Given the description of an element on the screen output the (x, y) to click on. 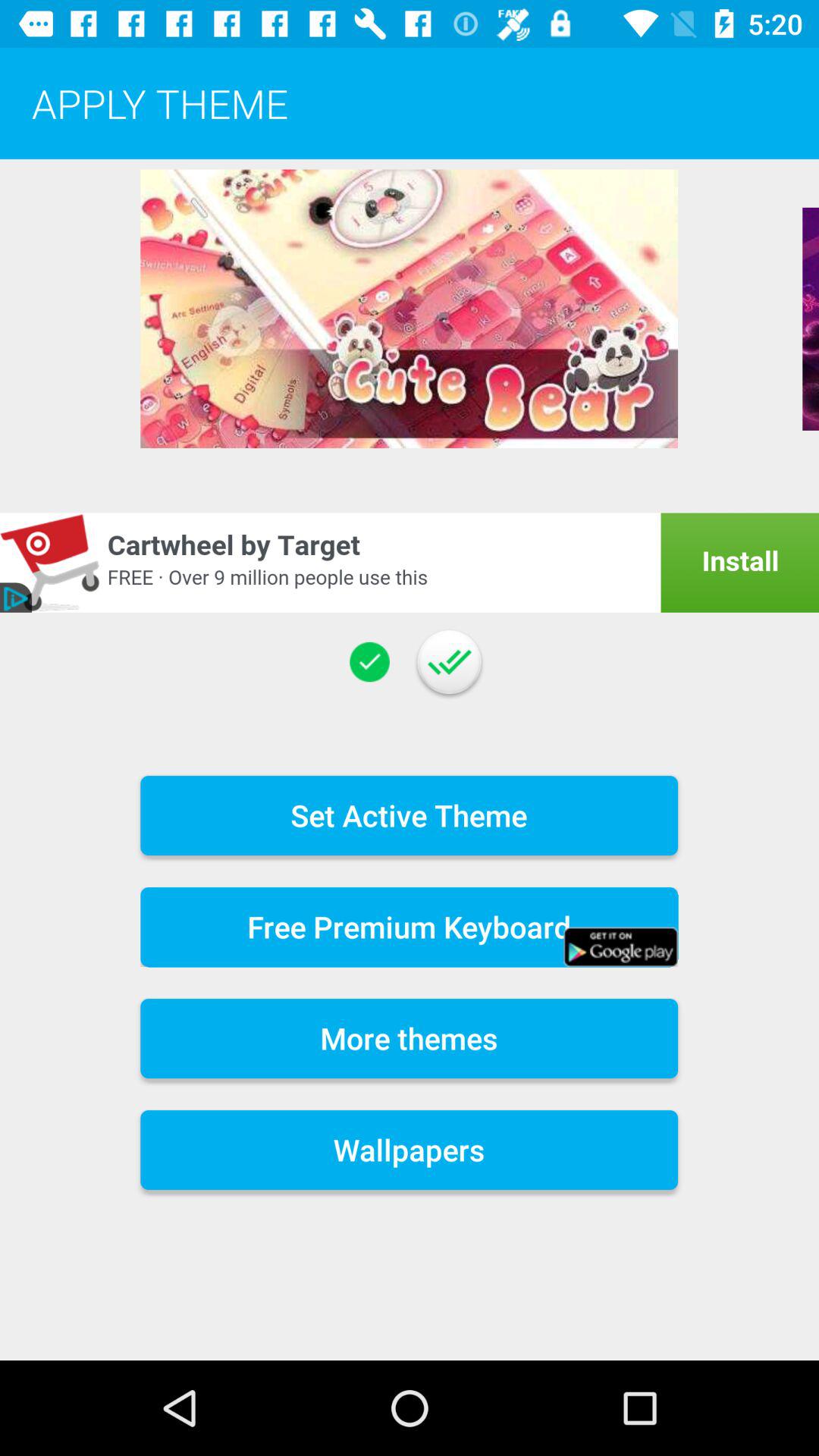
jump to the more themes icon (408, 1038)
